Given the description of an element on the screen output the (x, y) to click on. 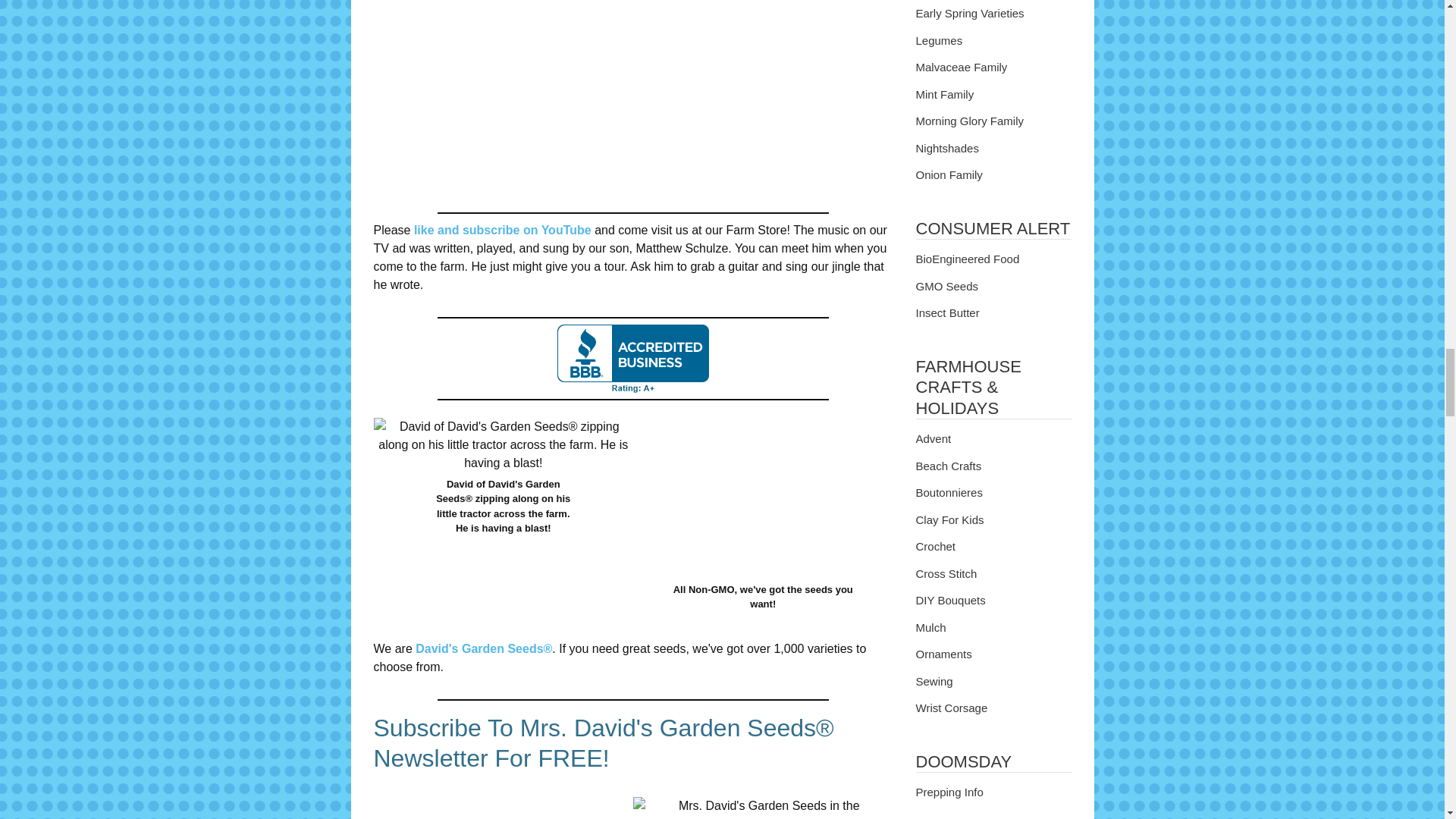
YouTube video player (632, 100)
like and subscribe on YouTube (502, 229)
All Non-GMO, we've got the seeds you want! (762, 494)
